Given the description of an element on the screen output the (x, y) to click on. 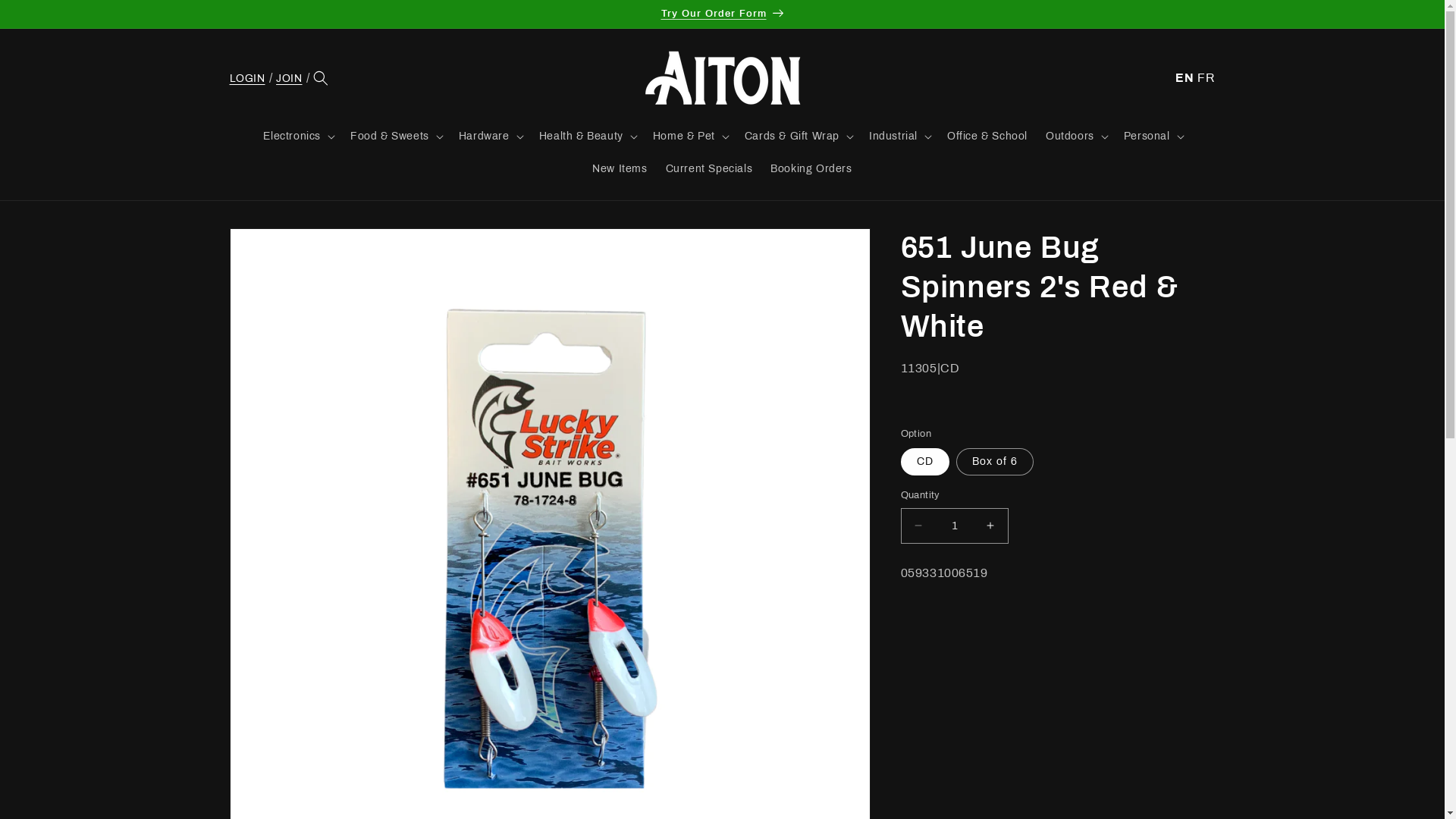
FR Element type: text (1205, 77)
Try Our Order Form Element type: text (722, 14)
EN Element type: text (1184, 77)
Booking Orders Element type: text (810, 169)
JOIN Element type: text (288, 77)
Office & School Element type: text (987, 136)
New Items Element type: text (619, 169)
Skip to product information Element type: text (275, 245)
LOGIN
Log in Element type: text (246, 77)
Current Specials Element type: text (709, 169)
